Given the description of an element on the screen output the (x, y) to click on. 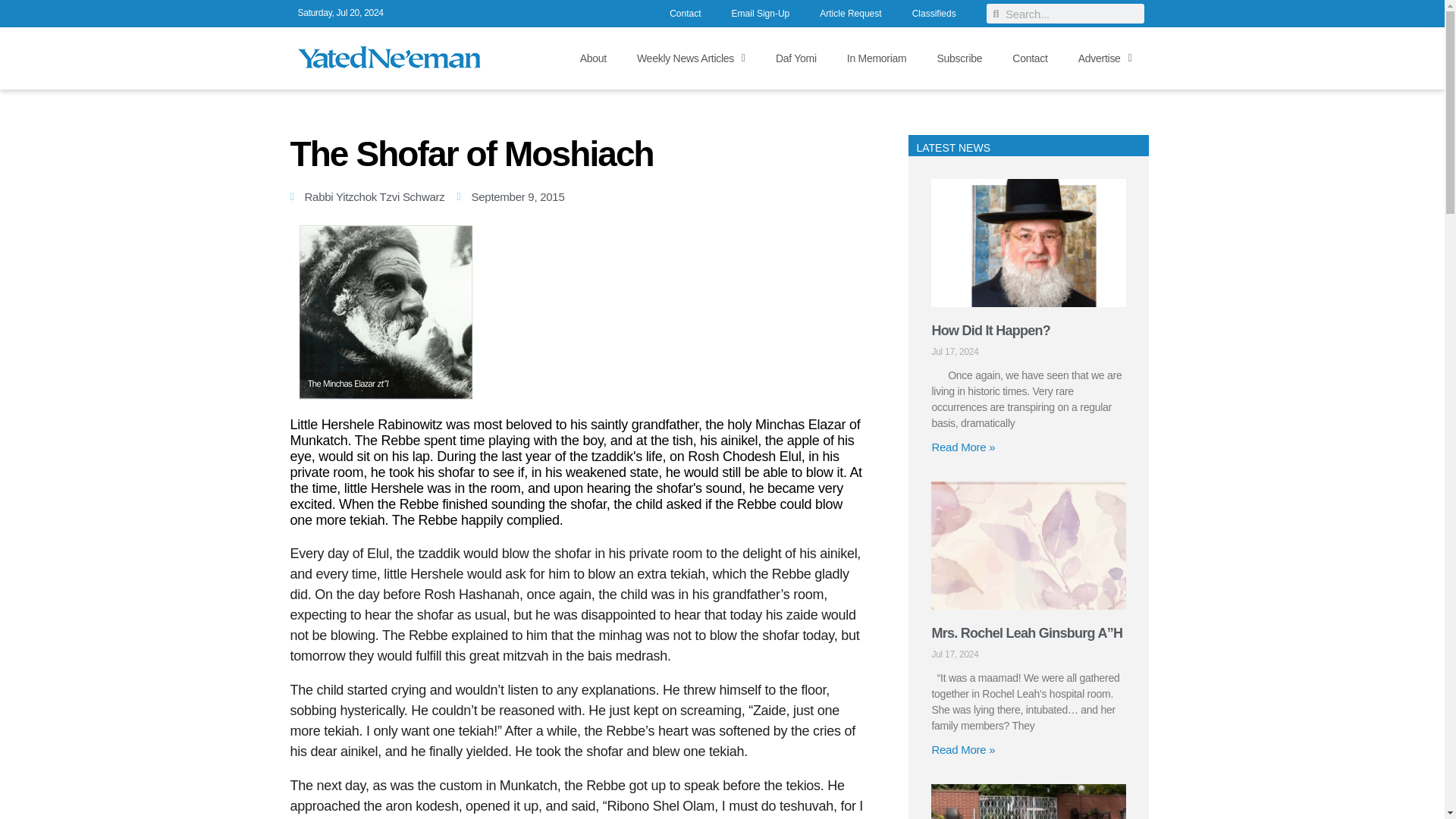
Advertise (1104, 58)
Contact (684, 15)
Contact (1029, 58)
Weekly News Articles (690, 58)
Classifieds (933, 15)
Subscribe (959, 58)
Daf Yomi (795, 58)
About (592, 58)
Email Sign-Up (760, 15)
Article Request (850, 15)
In Memoriam (876, 58)
